Given the description of an element on the screen output the (x, y) to click on. 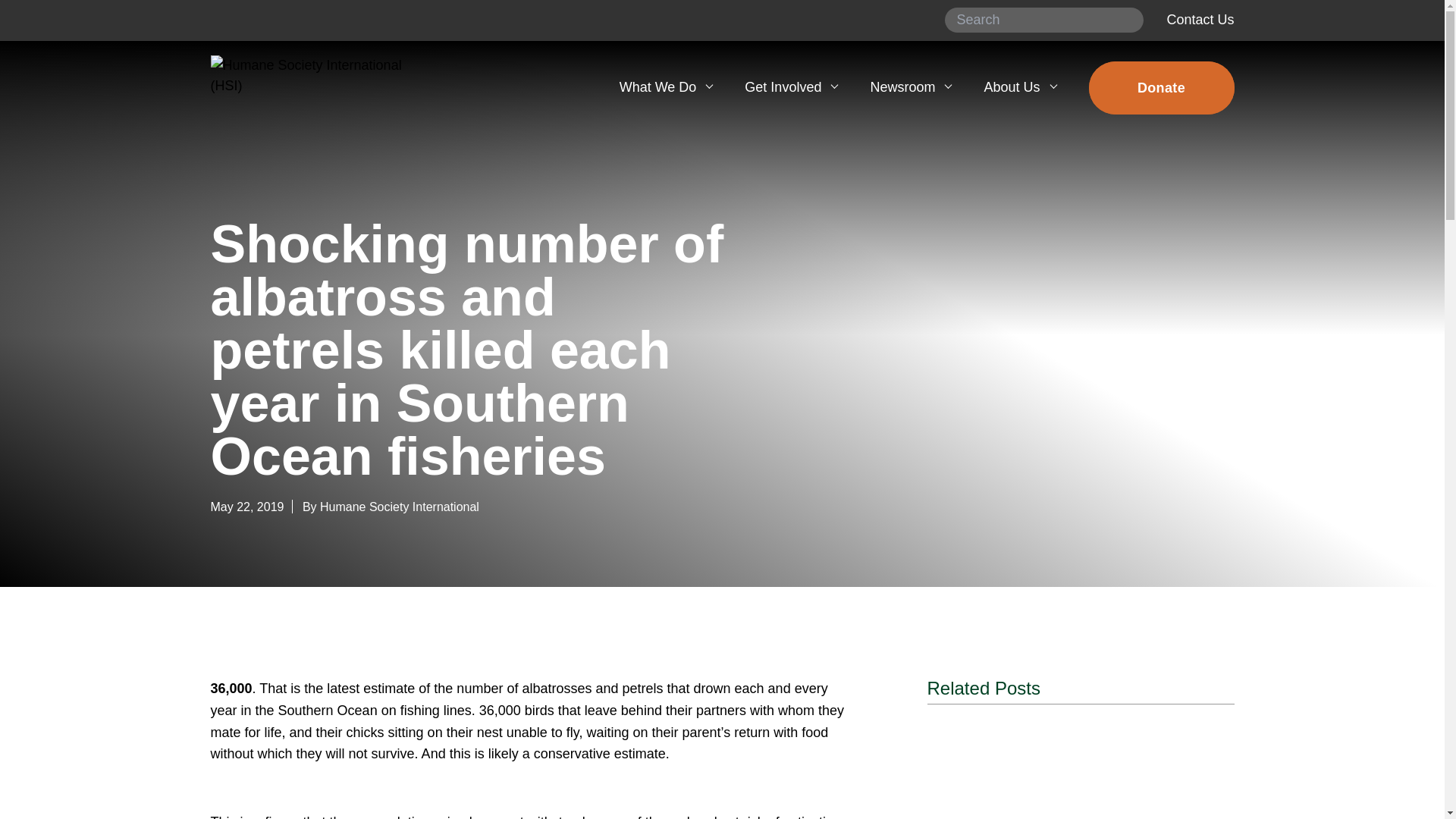
What We Do (665, 87)
Close (1211, 80)
Contact Us (1199, 19)
Submit (1125, 19)
Get Involved (790, 87)
Submit (1125, 19)
